Given the description of an element on the screen output the (x, y) to click on. 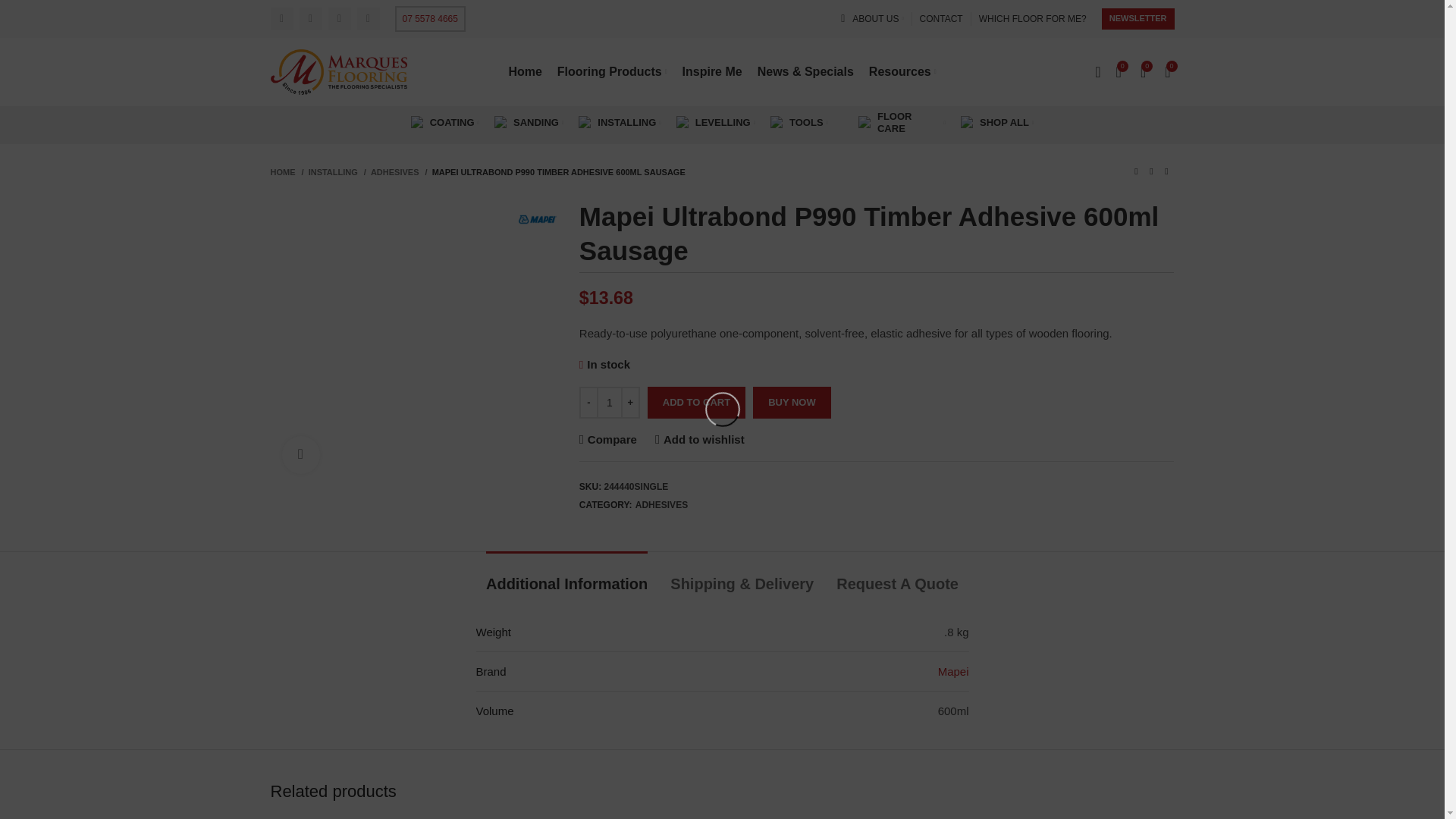
levelling (683, 122)
CONTACT (941, 19)
NEWSLETTER (1138, 18)
WHICH FLOOR FOR ME? (1032, 19)
coating (417, 122)
07 5578 4665 (429, 18)
Home (524, 71)
maintenance (865, 122)
Flooring Products (611, 71)
store (967, 122)
installing (585, 122)
sanding (501, 122)
Inspire Me (712, 71)
Resources (902, 71)
tools (777, 122)
